Given the description of an element on the screen output the (x, y) to click on. 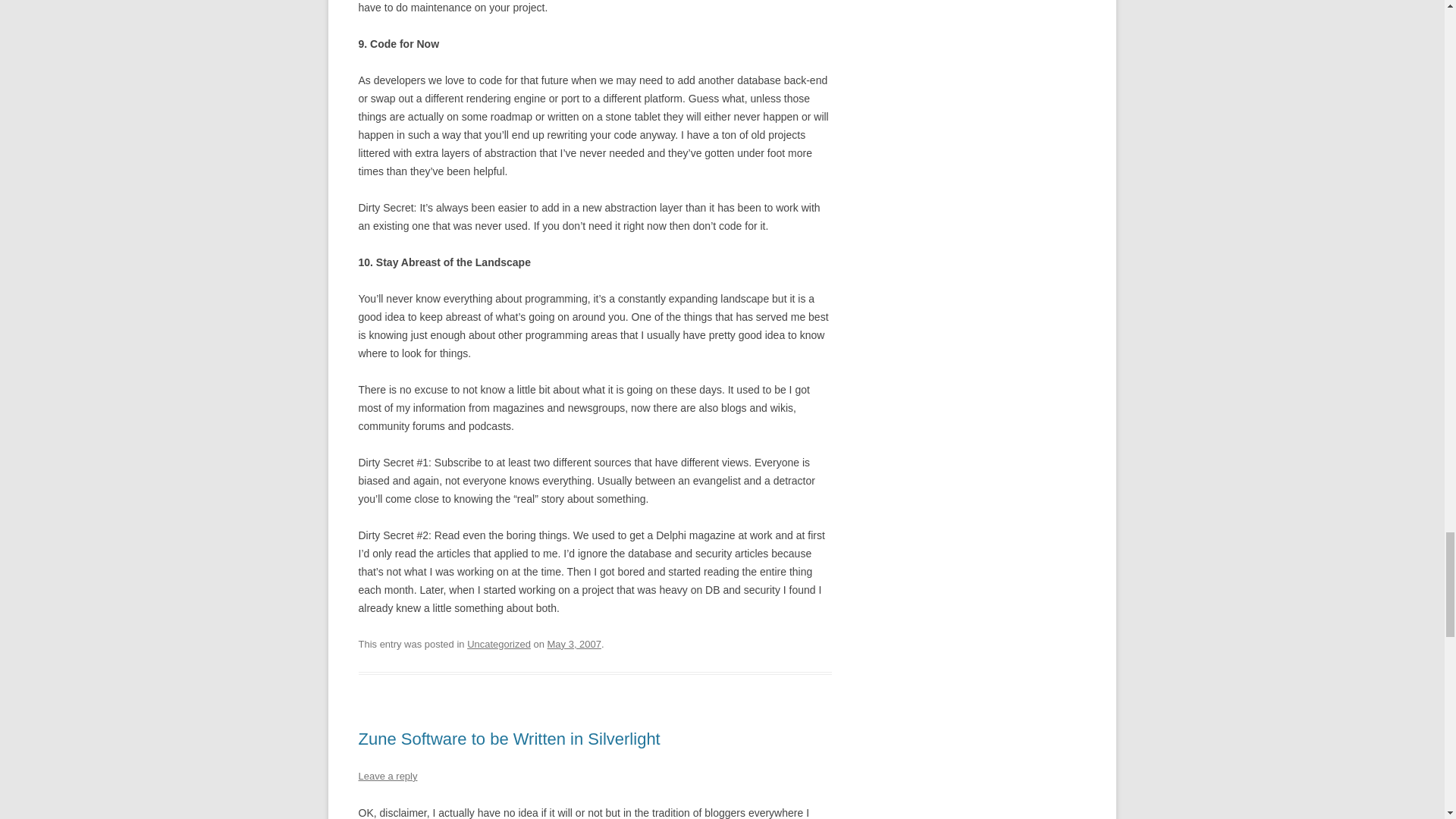
Comment on Zune Software to be Written in Silverlight (387, 776)
May 3, 2007 (574, 644)
6:49 pm (574, 644)
Uncategorized (499, 644)
View all posts in Uncategorized (499, 644)
Zune Software to be Written in Silverlight (508, 738)
Leave a reply (387, 776)
